Given the description of an element on the screen output the (x, y) to click on. 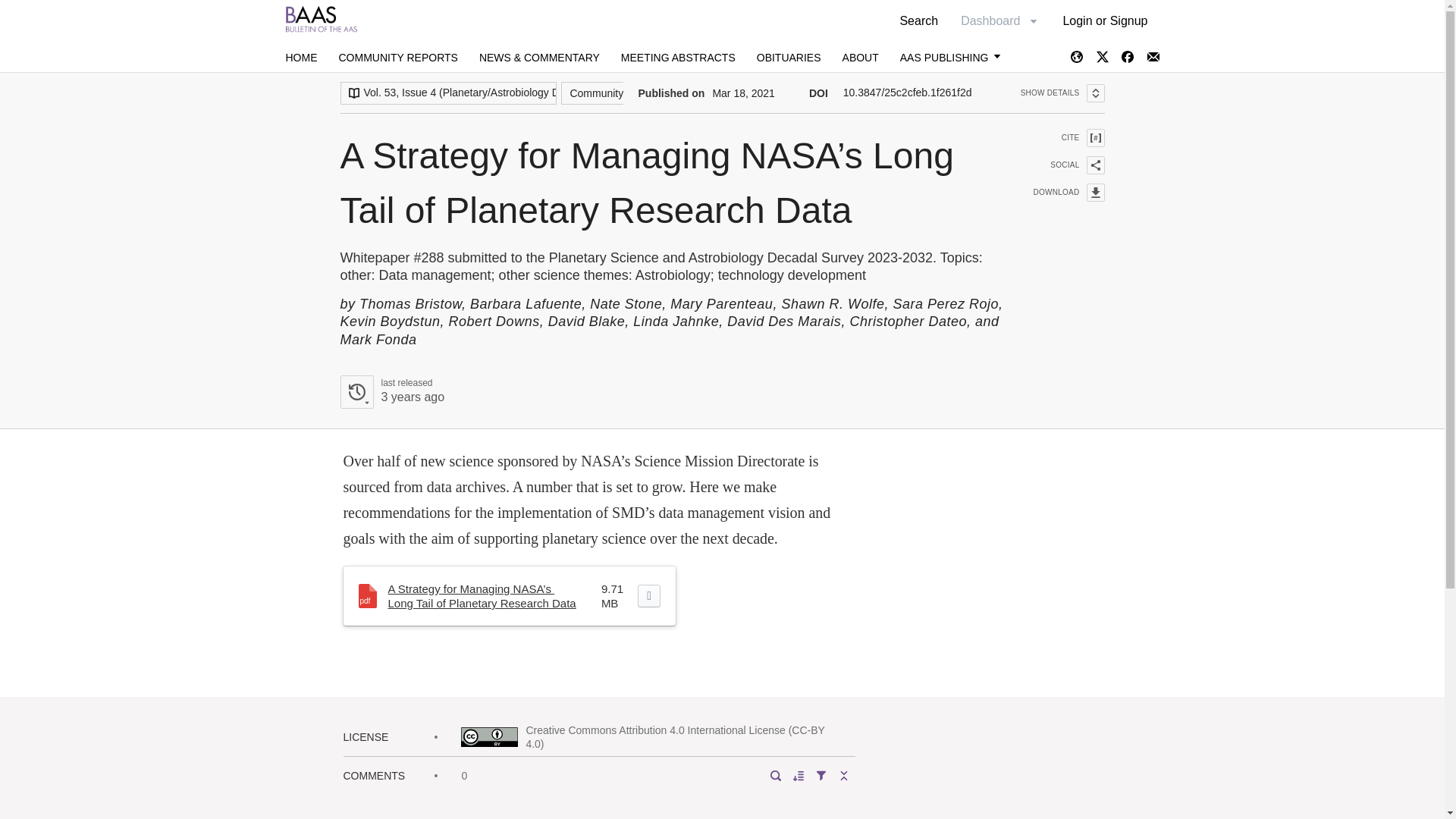
ABOUT (861, 57)
CITE (1058, 137)
HOME (301, 57)
2021-04-08 21:16 (412, 396)
Login or Signup (1104, 20)
OBITUARIES (789, 57)
Search (391, 391)
SOCIAL (918, 20)
DOWNLOAD (1058, 165)
